Given the description of an element on the screen output the (x, y) to click on. 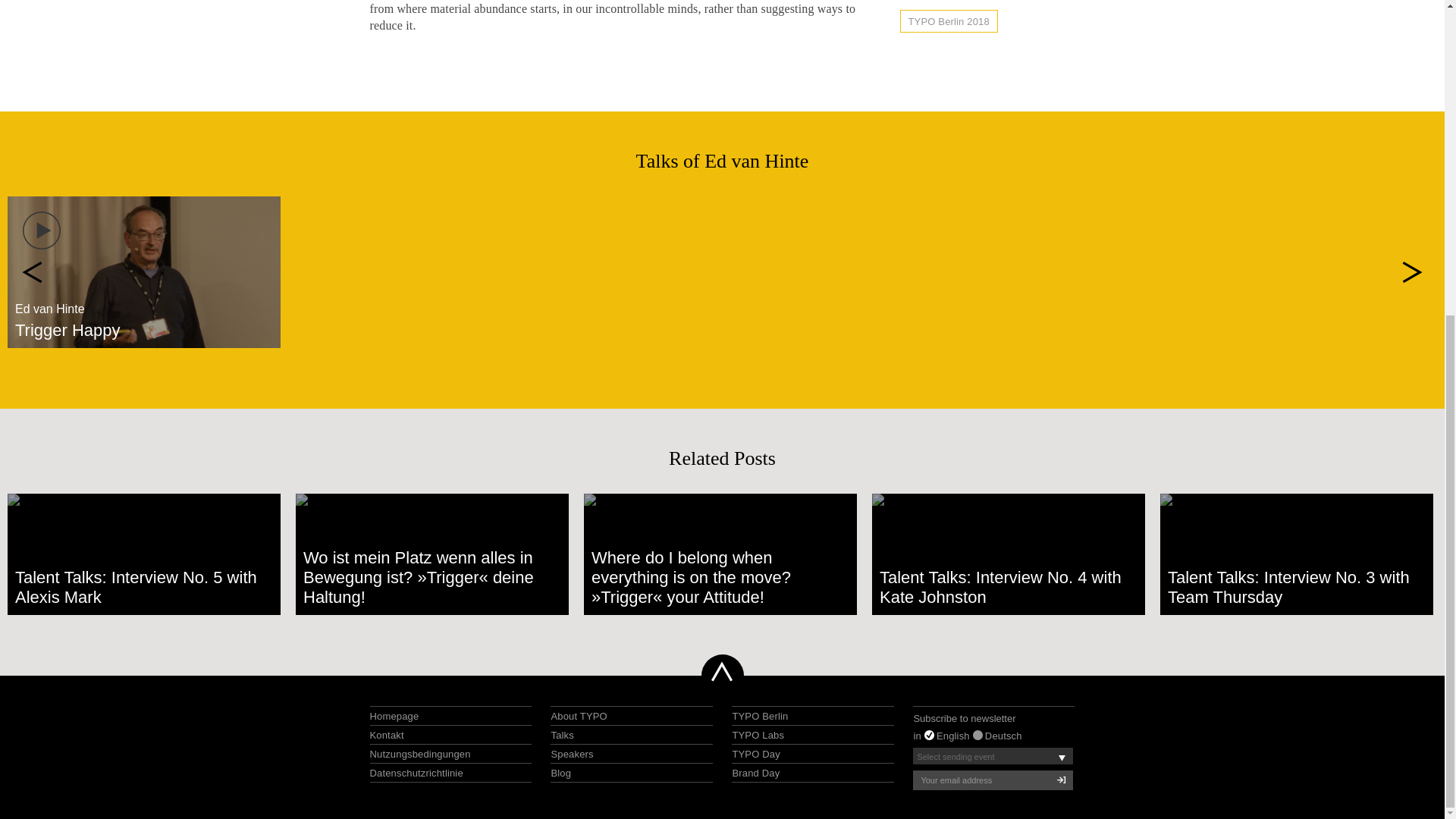
TYPO Berlin 2018 (948, 21)
International design experts speaking on design conferences (571, 754)
Kontakt zum TYPO Management (386, 735)
TYPO International Design Conference in Berlin, Germany (759, 715)
